Given the description of an element on the screen output the (x, y) to click on. 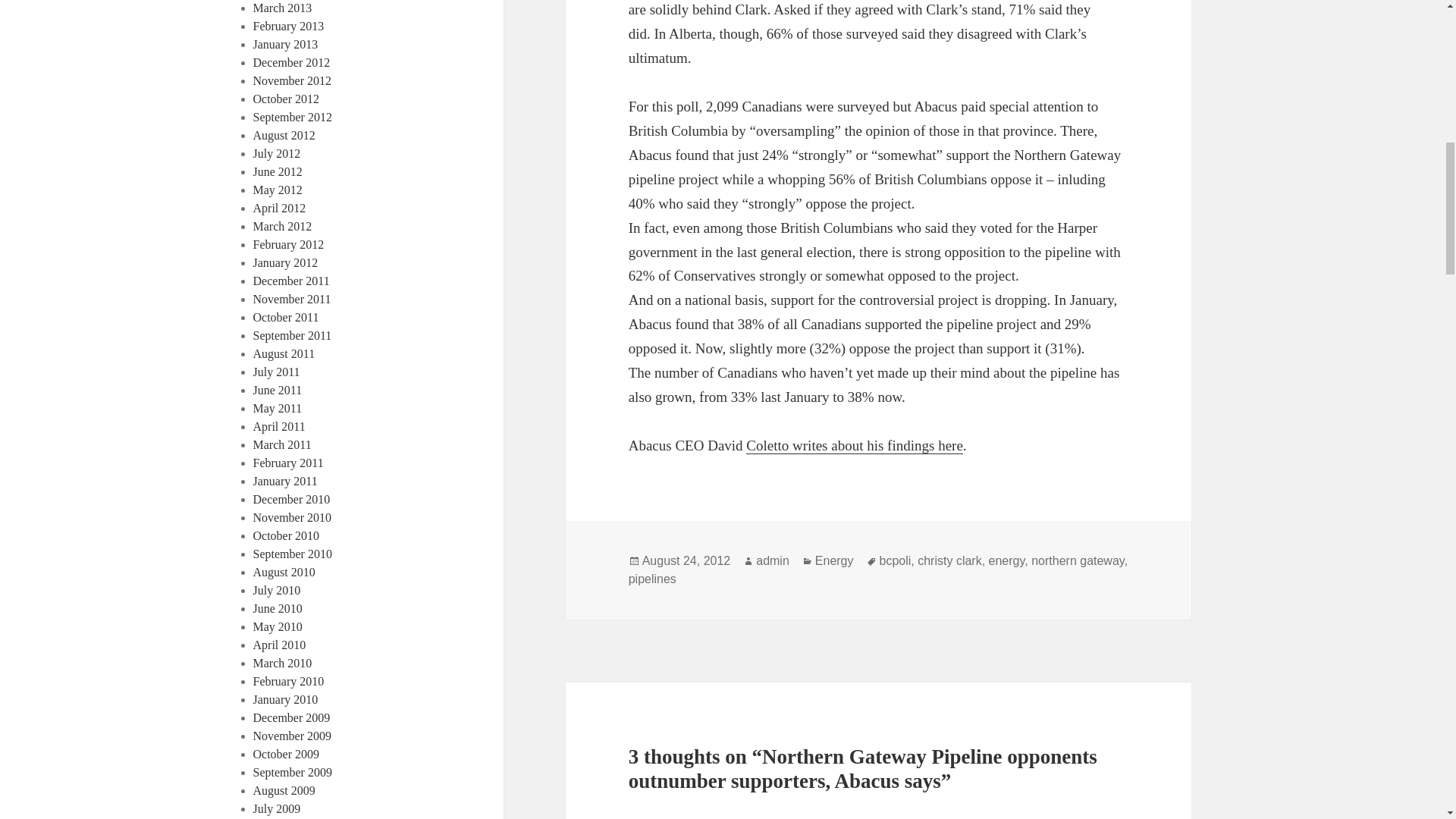
March 2013 (283, 7)
October 2012 (286, 98)
January 2013 (285, 43)
April 2012 (279, 207)
June 2012 (277, 171)
September 2012 (292, 116)
July 2012 (277, 153)
November 2012 (292, 80)
December 2012 (291, 62)
August 2012 (284, 134)
